Given the description of an element on the screen output the (x, y) to click on. 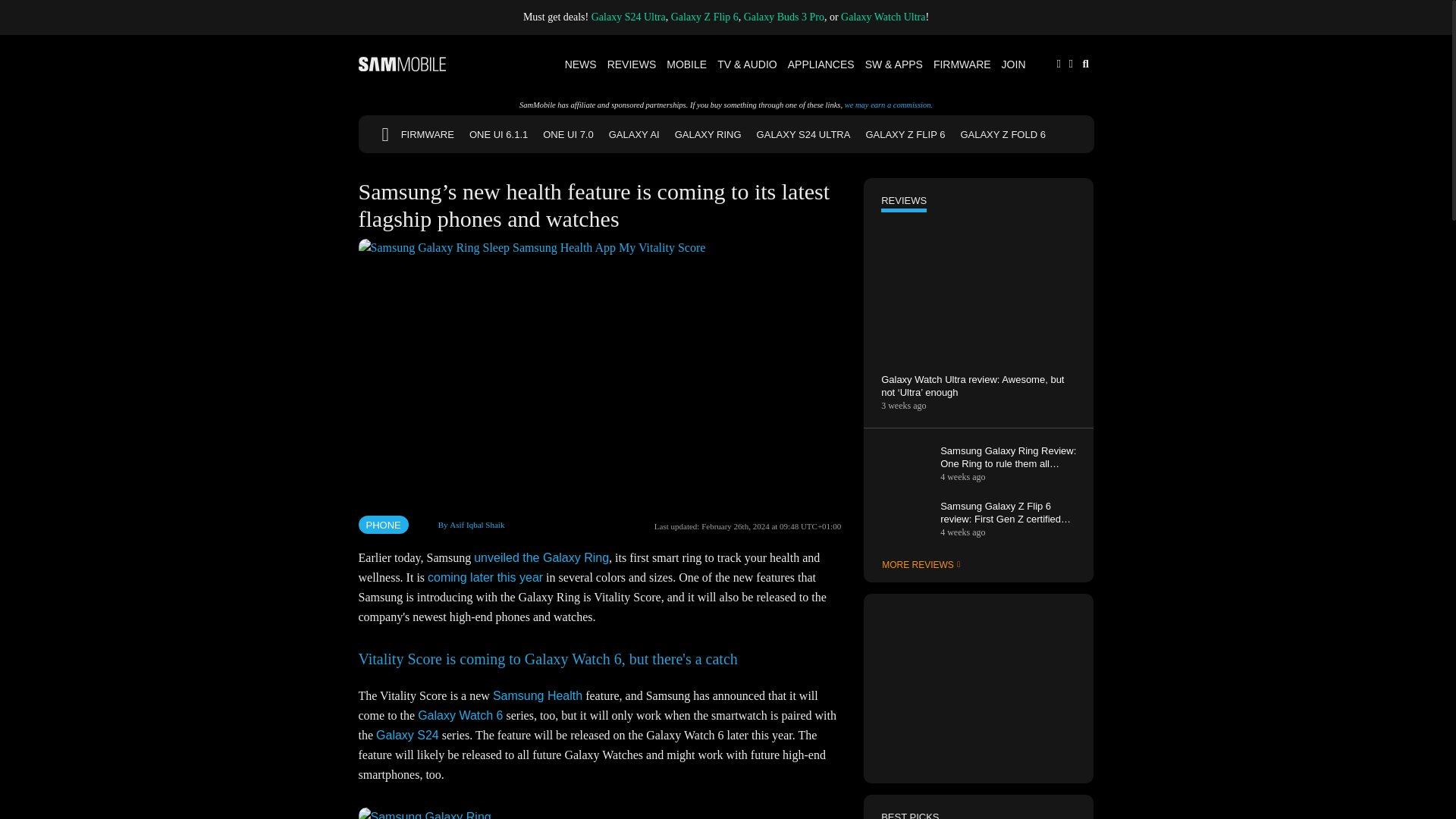
Galaxy Buds 3 Pro (784, 16)
REVIEWS (632, 64)
SamMobile logo (401, 63)
MOBILE (686, 64)
Show Notifications (1058, 62)
Galaxy Z Flip 6 (704, 16)
Galaxy S24 Ultra (628, 16)
Galaxy Watch Ultra (882, 16)
